Given the description of an element on the screen output the (x, y) to click on. 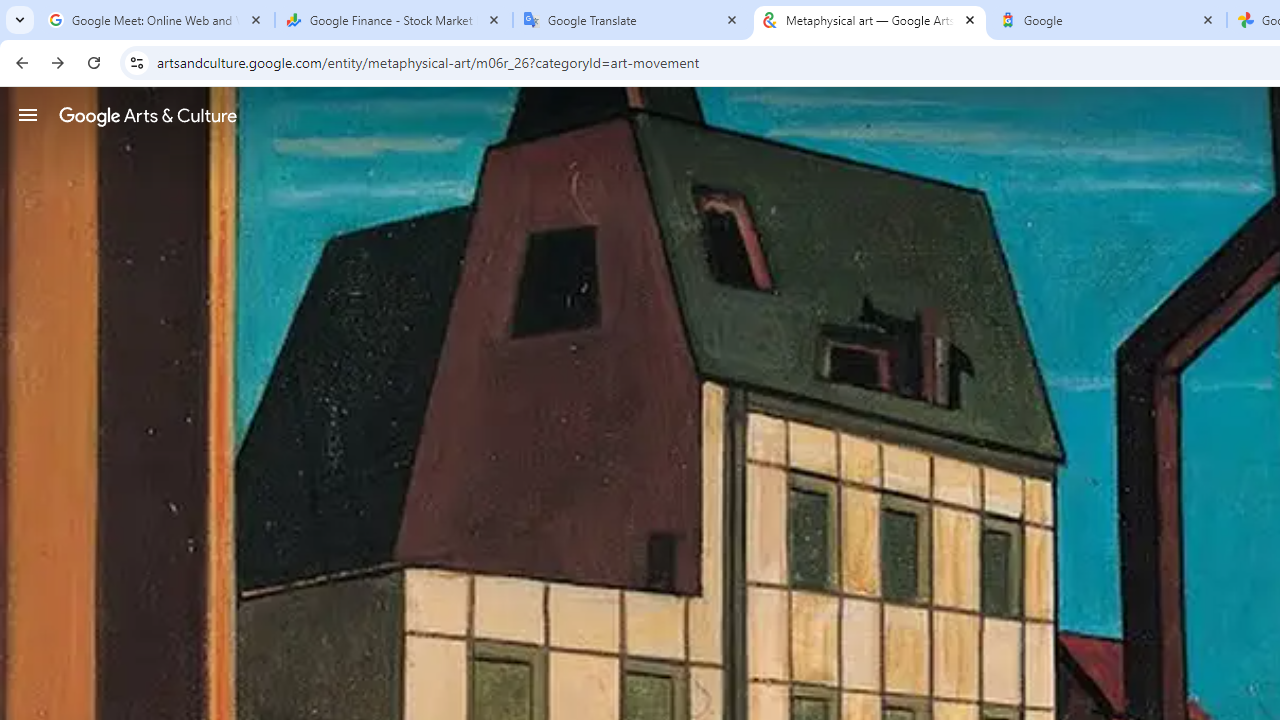
Google Arts & Culture (148, 115)
